Given the description of an element on the screen output the (x, y) to click on. 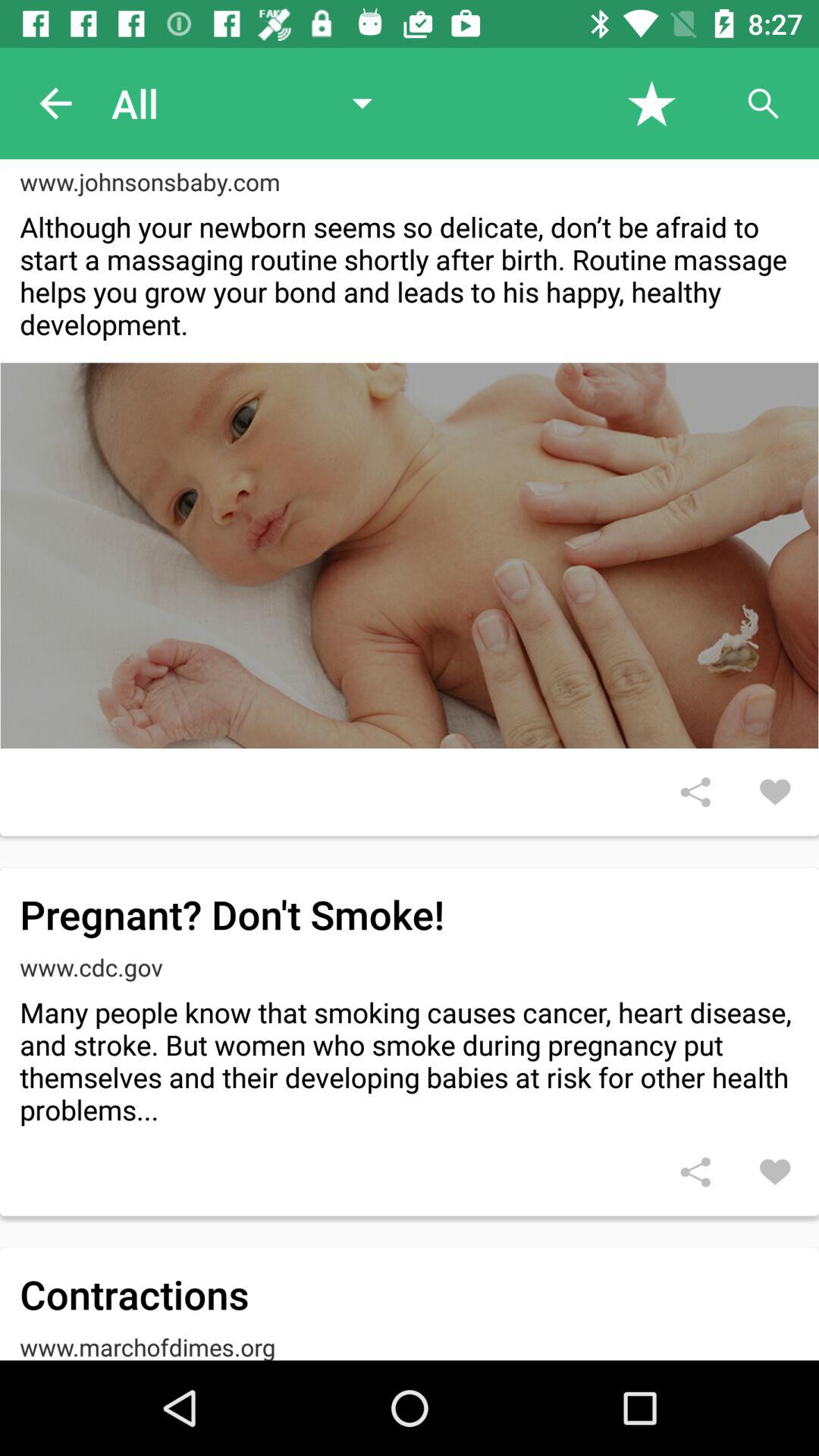
image like (775, 792)
